Given the description of an element on the screen output the (x, y) to click on. 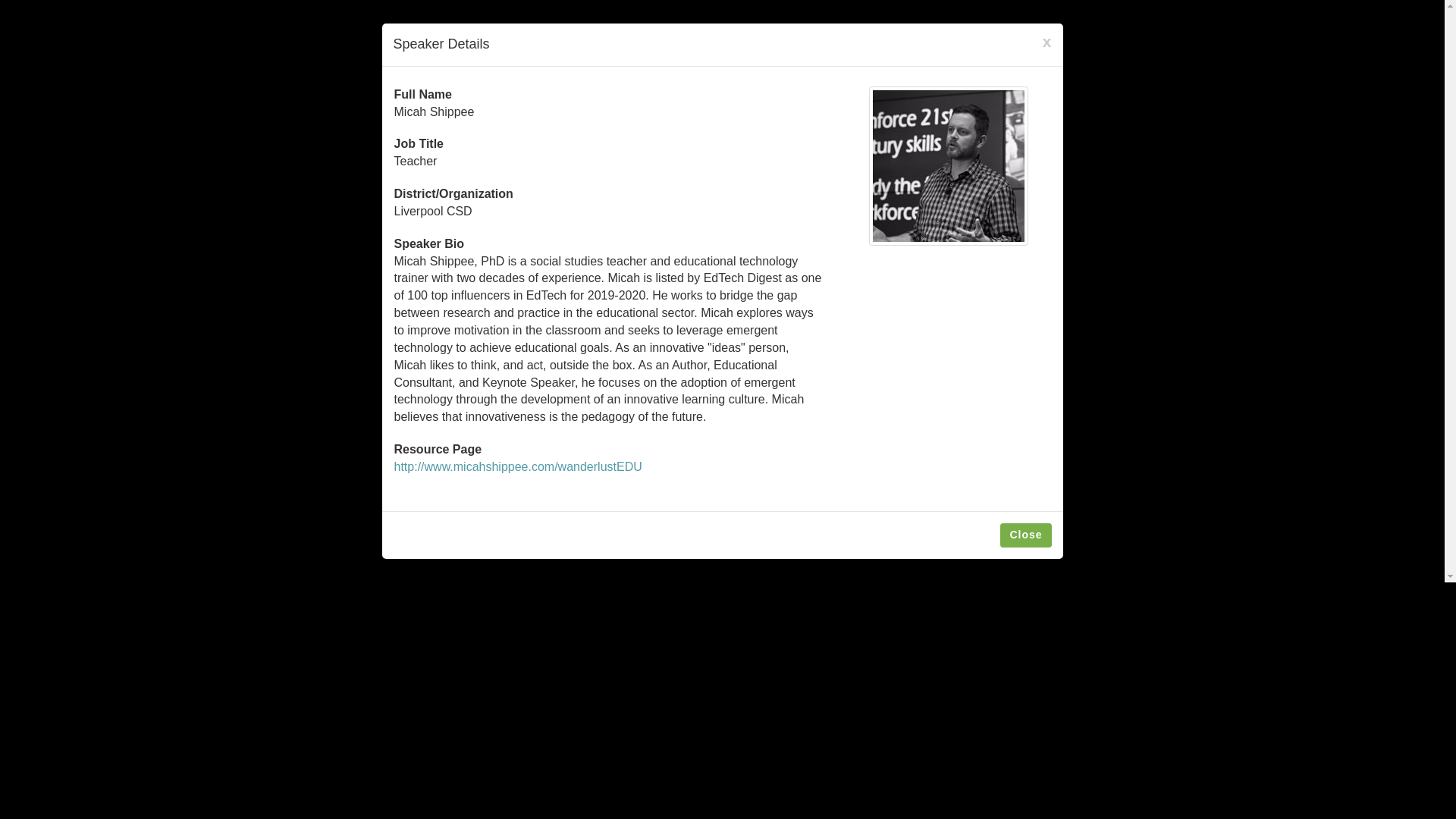
Close (1025, 535)
